Given the description of an element on the screen output the (x, y) to click on. 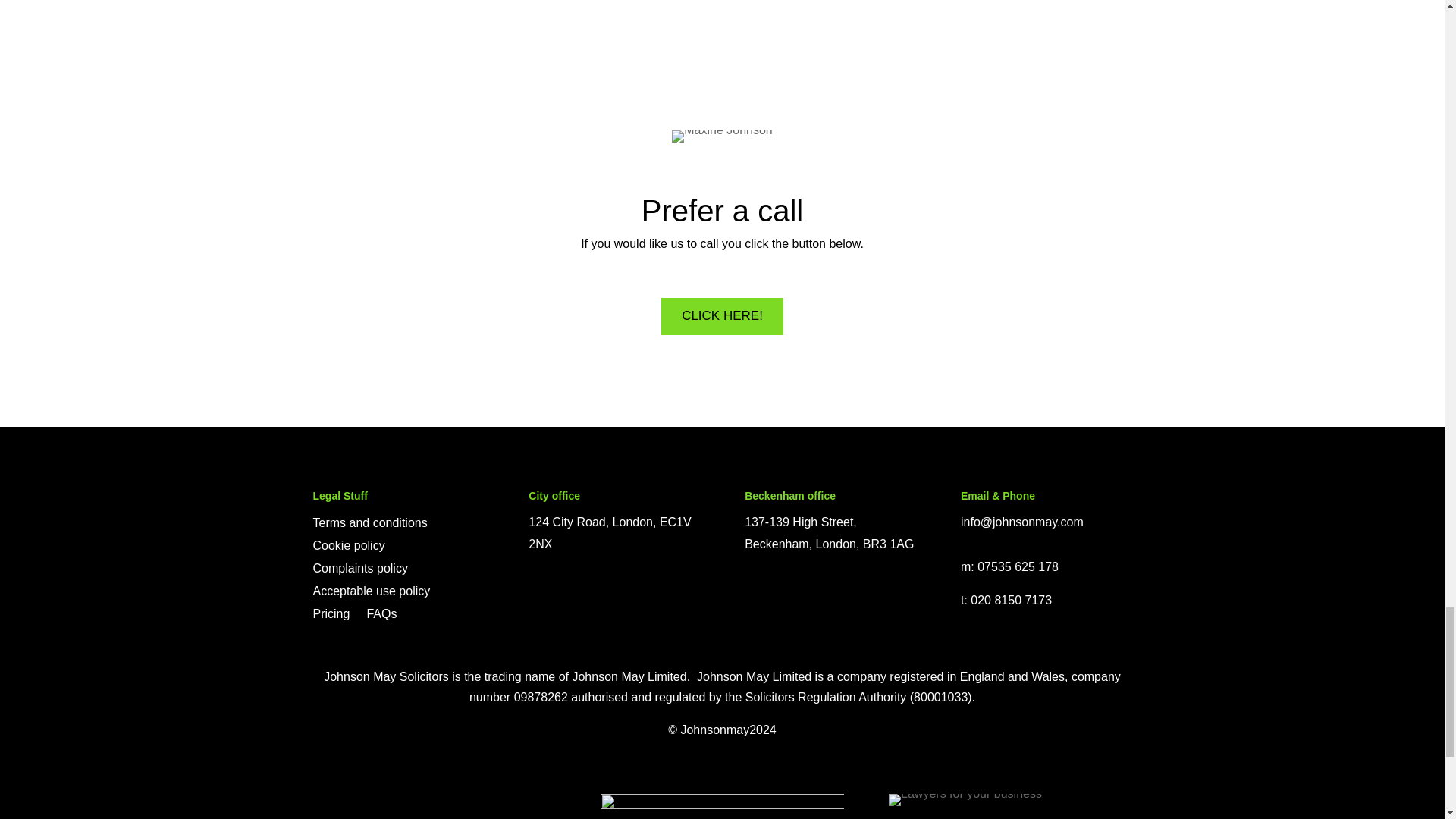
Maxine Johnson (722, 136)
BCS pin-professional (721, 806)
Lawyers for your business (965, 799)
